Given the description of an element on the screen output the (x, y) to click on. 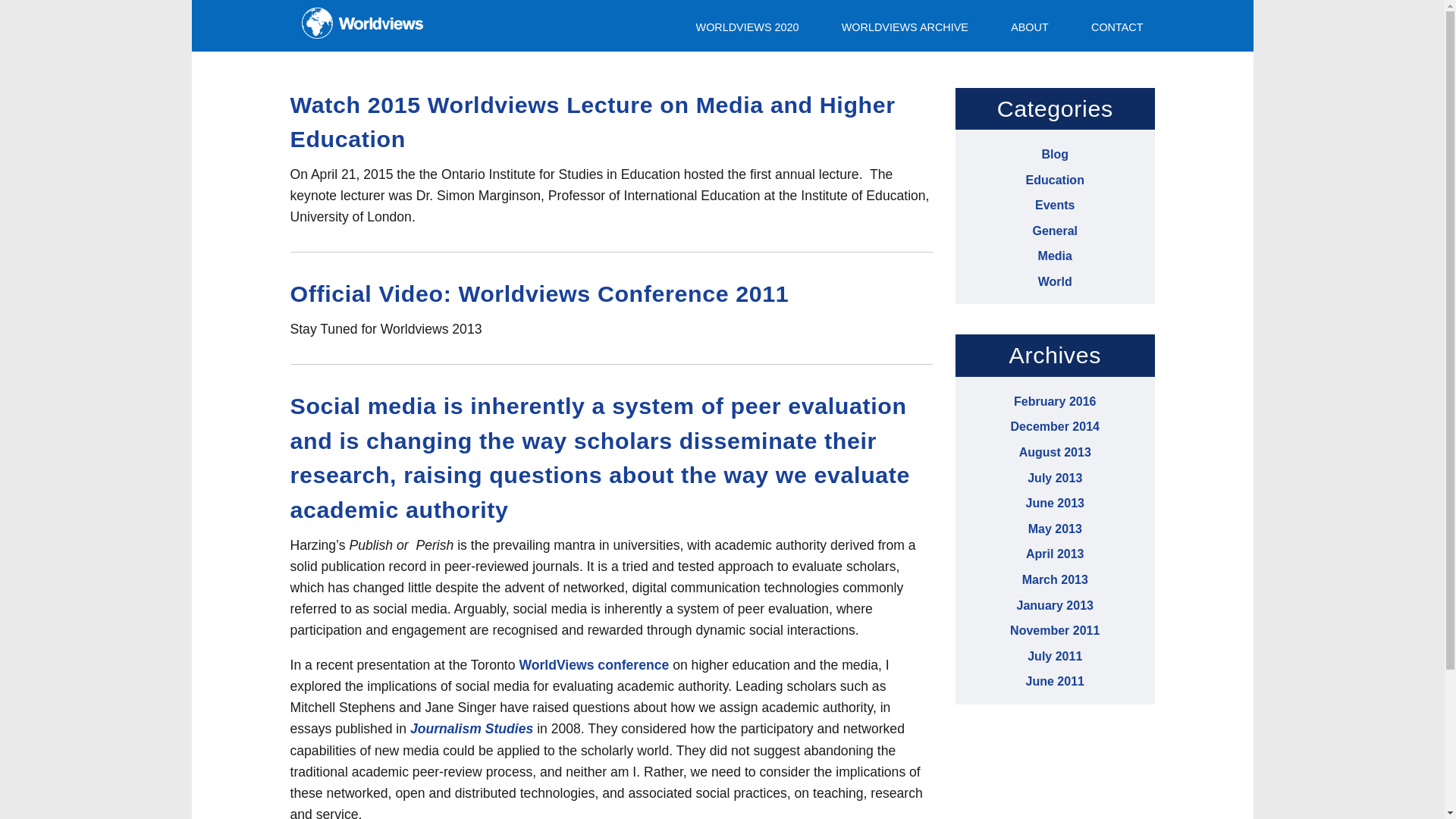
Media (1054, 255)
Events (1054, 205)
December 2014 (1054, 426)
Blog (1054, 154)
August 2013 (1054, 451)
Journalism Studies (471, 728)
WORLDVIEWS 2020 (756, 25)
WorldViews conference (593, 664)
July 2013 (1054, 477)
CONTACT (1106, 25)
